Given the description of an element on the screen output the (x, y) to click on. 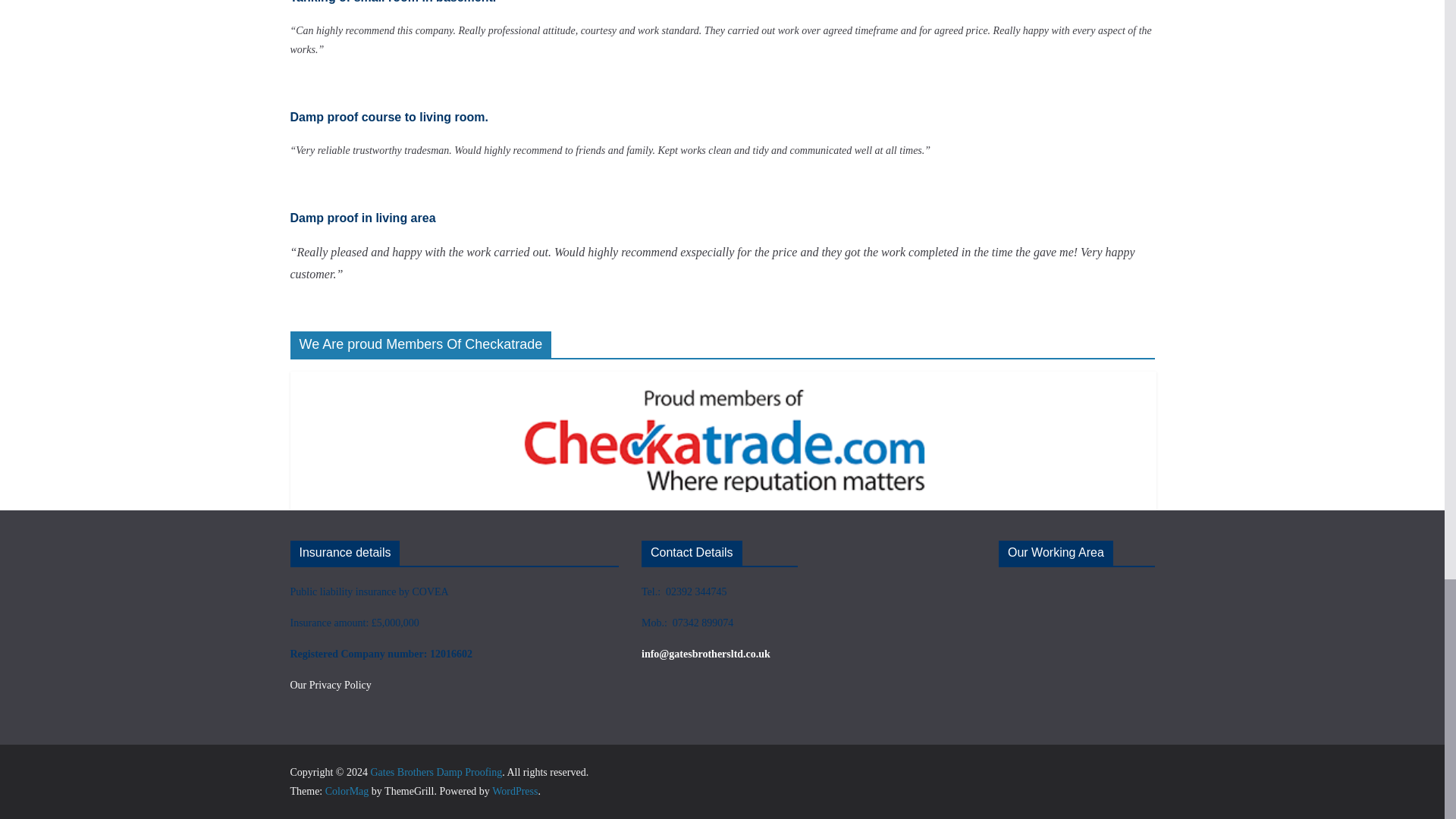
WordPress (514, 790)
ColorMag (346, 790)
WordPress (514, 790)
Gates Brothers Damp Proofing (435, 772)
ColorMag (346, 790)
Gates Brothers Damp Proofing (435, 772)
Our Privacy Policy (330, 685)
